Given the description of an element on the screen output the (x, y) to click on. 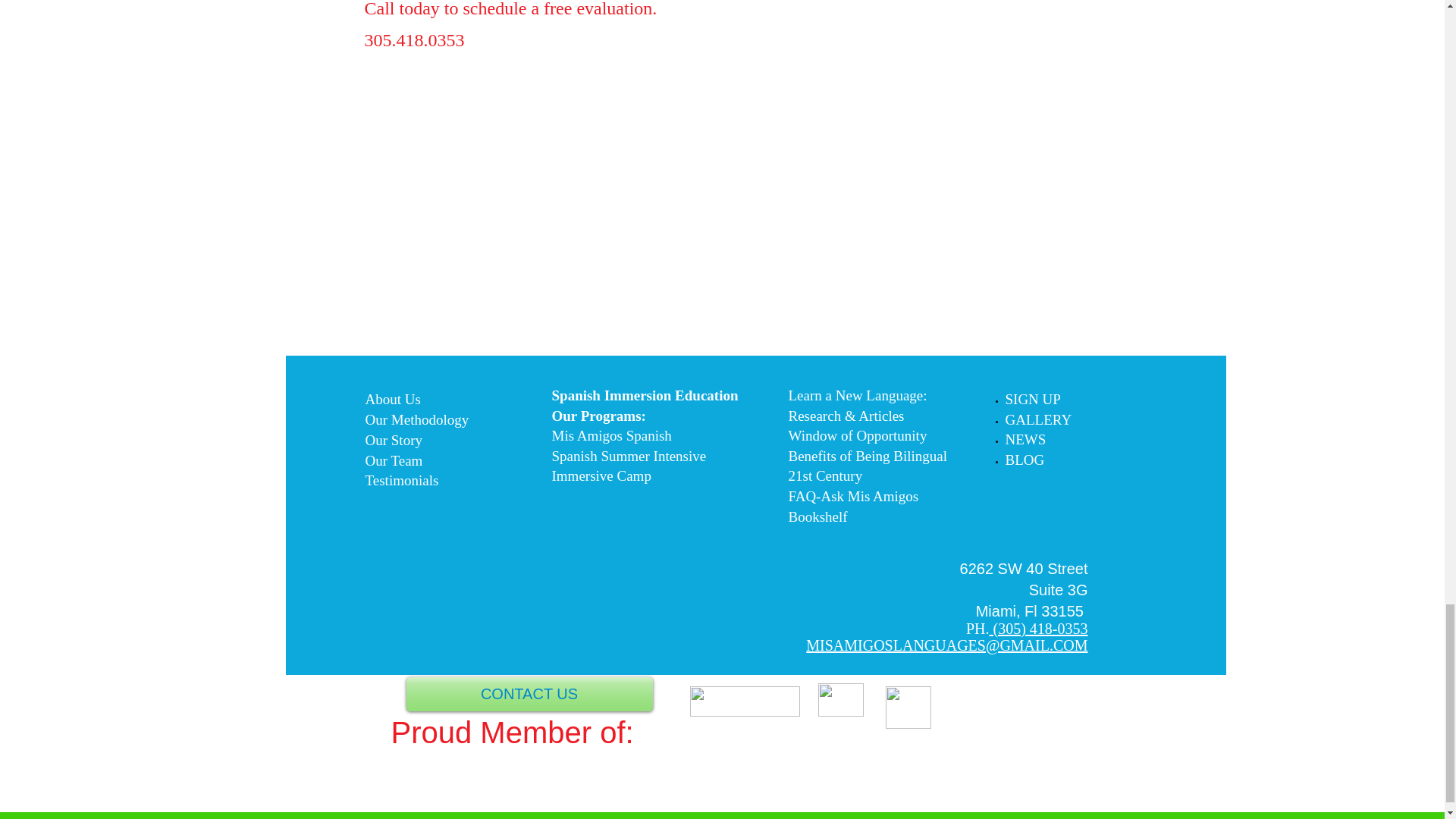
Call today to schedule a free evaluation. (510, 9)
Benefits of Being Bilingual (868, 455)
Our Methodology (416, 419)
Our Story (393, 439)
GALLERY (1038, 421)
Testimonials (402, 480)
Our Team (394, 460)
Window of Opportunity (858, 435)
About Us (392, 399)
21st Century (826, 478)
